Given the description of an element on the screen output the (x, y) to click on. 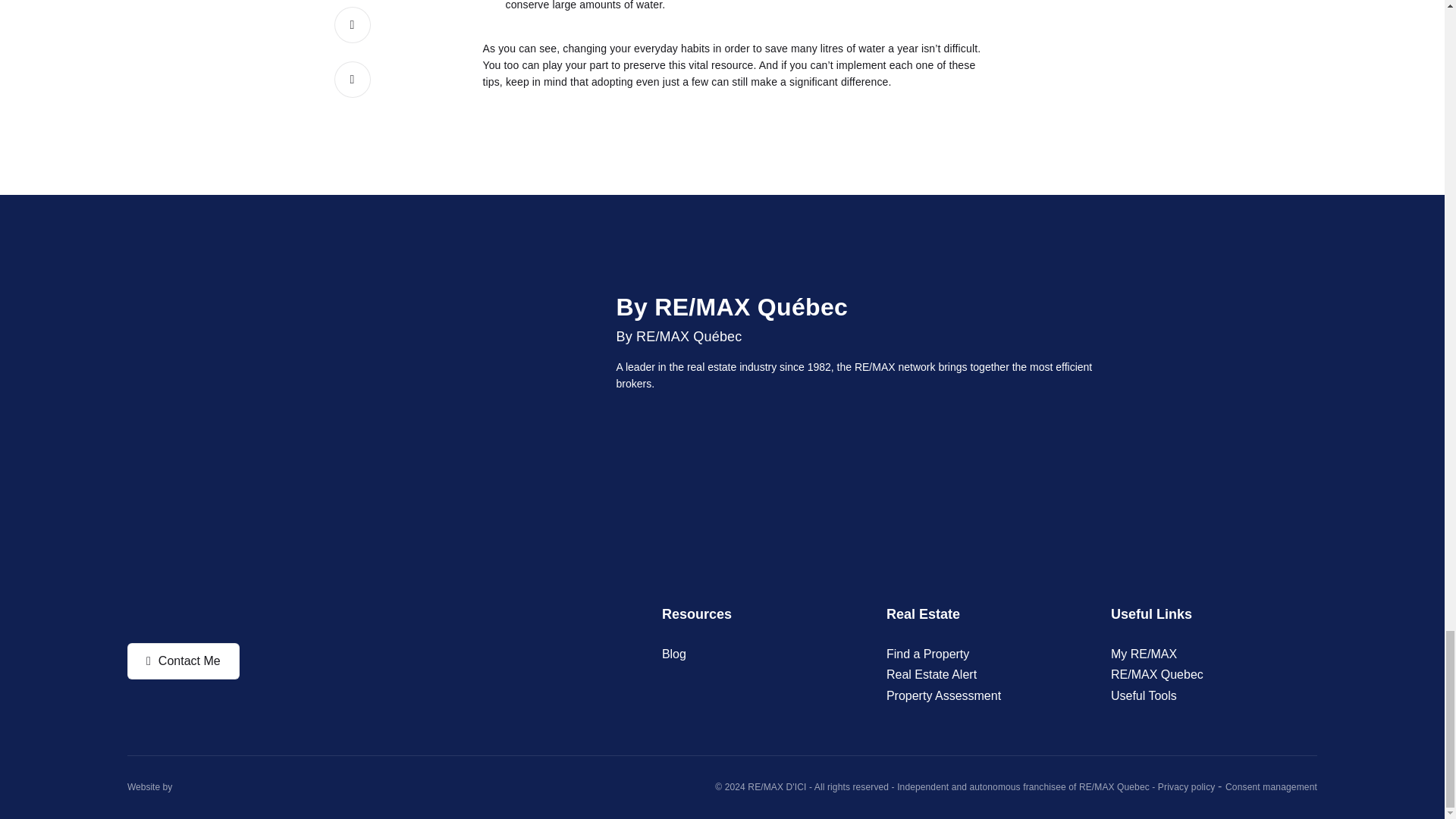
Consent management (1271, 787)
Website by (149, 786)
Privacy policy (1187, 787)
Property Assessment (943, 695)
Find a Property (927, 653)
Contact Me (184, 660)
Useful Tools (1143, 695)
Real Estate Alert (931, 674)
Blog (673, 653)
